Given the description of an element on the screen output the (x, y) to click on. 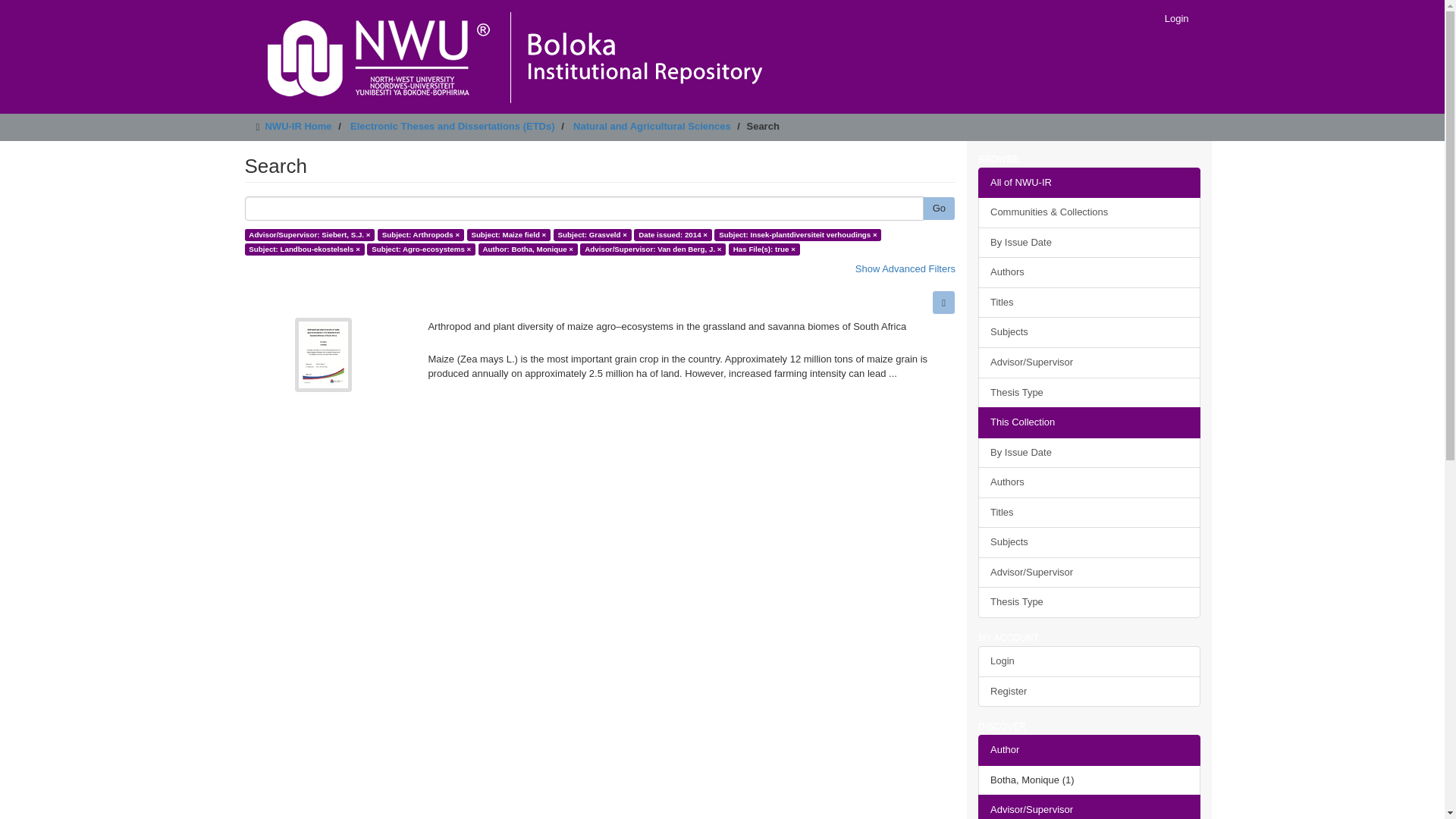
Show Advanced Filters (905, 268)
Natural and Agricultural Sciences (651, 125)
Go (939, 208)
Login (1176, 18)
NWU-IR Home (297, 125)
